Given the description of an element on the screen output the (x, y) to click on. 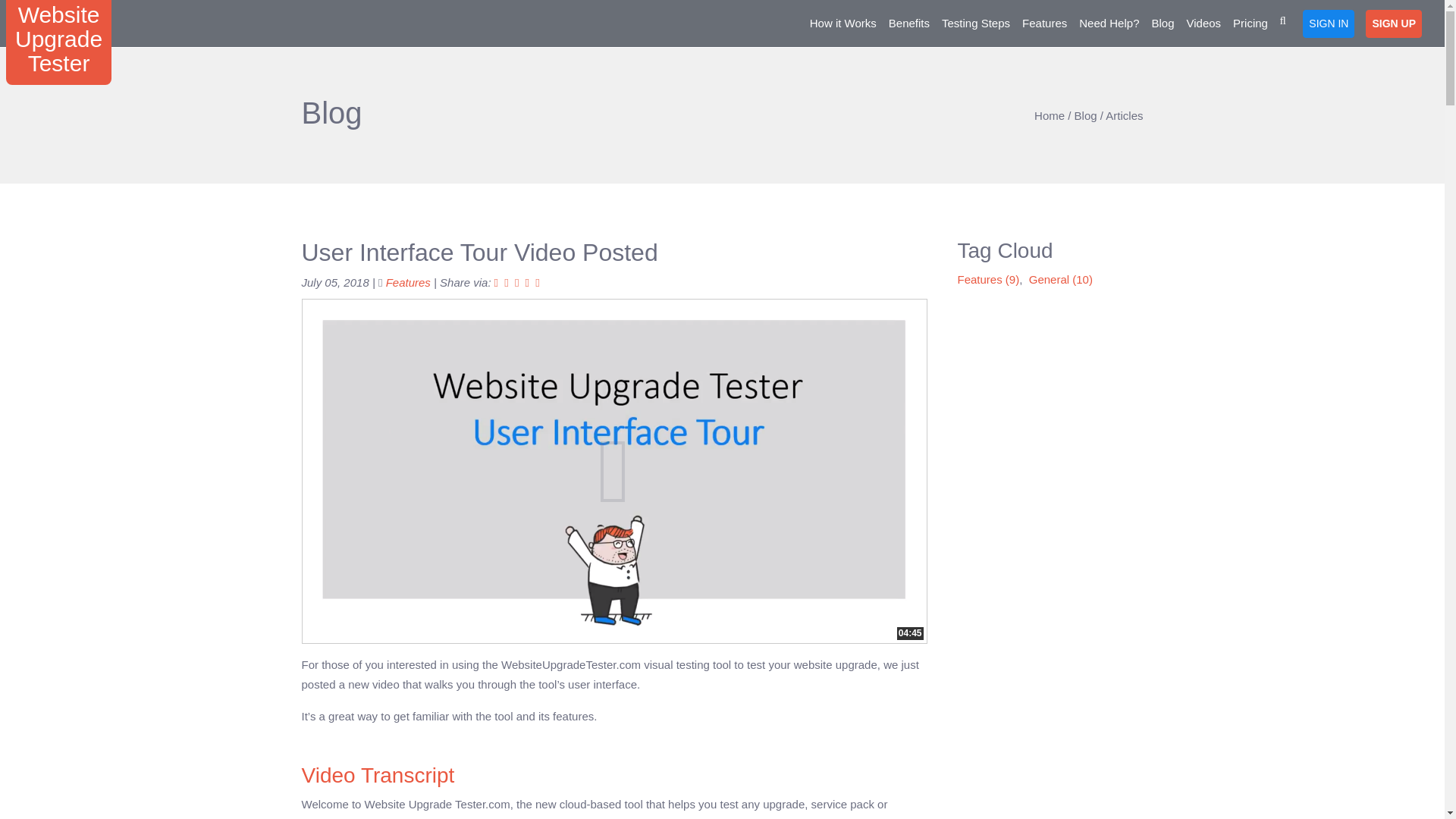
Articles (1123, 115)
How it Works (842, 23)
Videos (1203, 23)
Blog (1085, 115)
click to see all posts with this tag (407, 282)
Testing Steps (976, 23)
SIGN IN (1328, 22)
Home (1048, 115)
Click to play video (58, 42)
Need Help? (407, 282)
Benefits (1108, 23)
Features (909, 23)
SIGN UP (1044, 23)
